Given the description of an element on the screen output the (x, y) to click on. 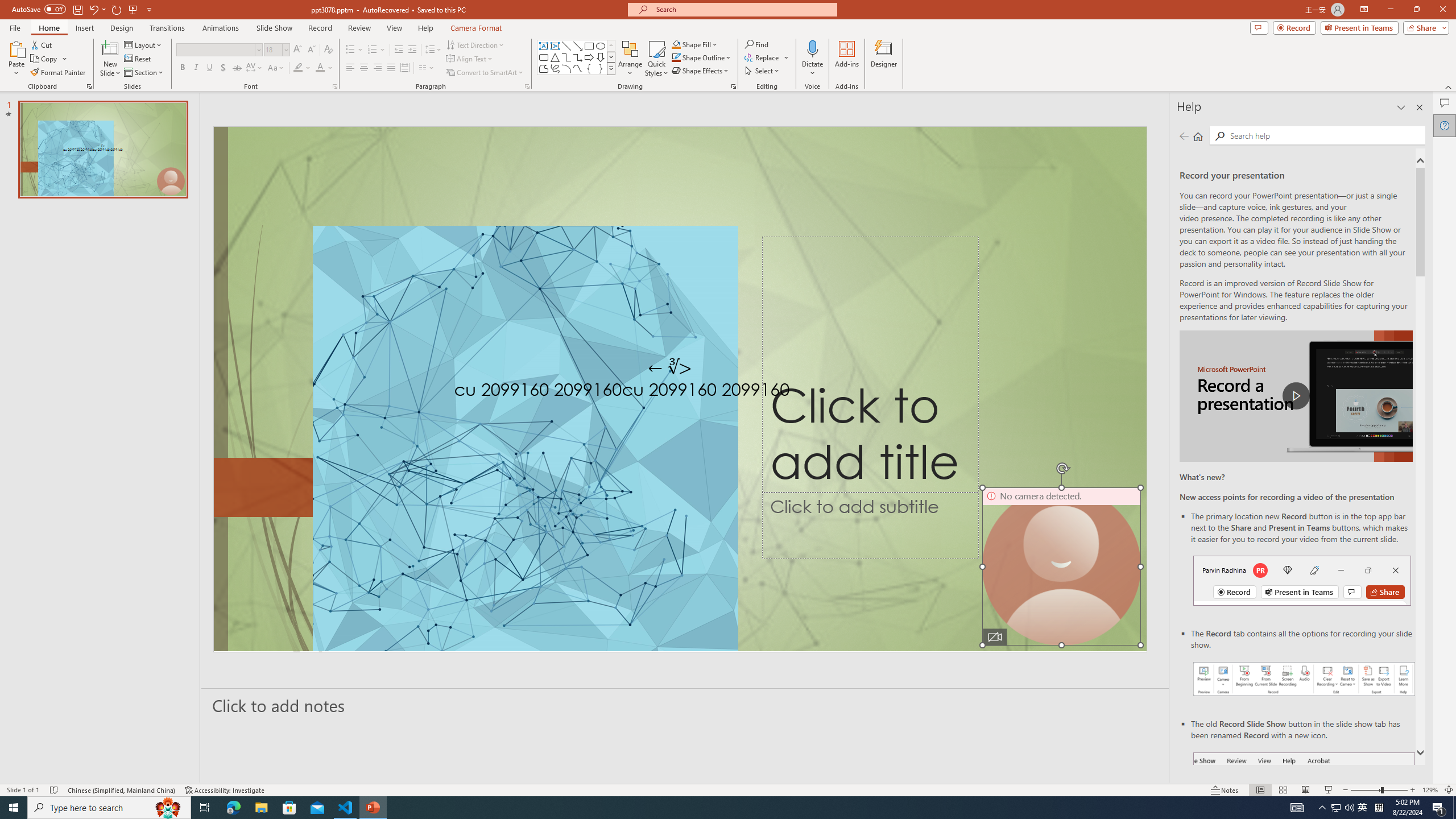
Camera Format (475, 28)
Increase Font Size (297, 49)
View (395, 28)
Bold (182, 67)
Design (122, 28)
Clear Formatting (327, 49)
